Given the description of an element on the screen output the (x, y) to click on. 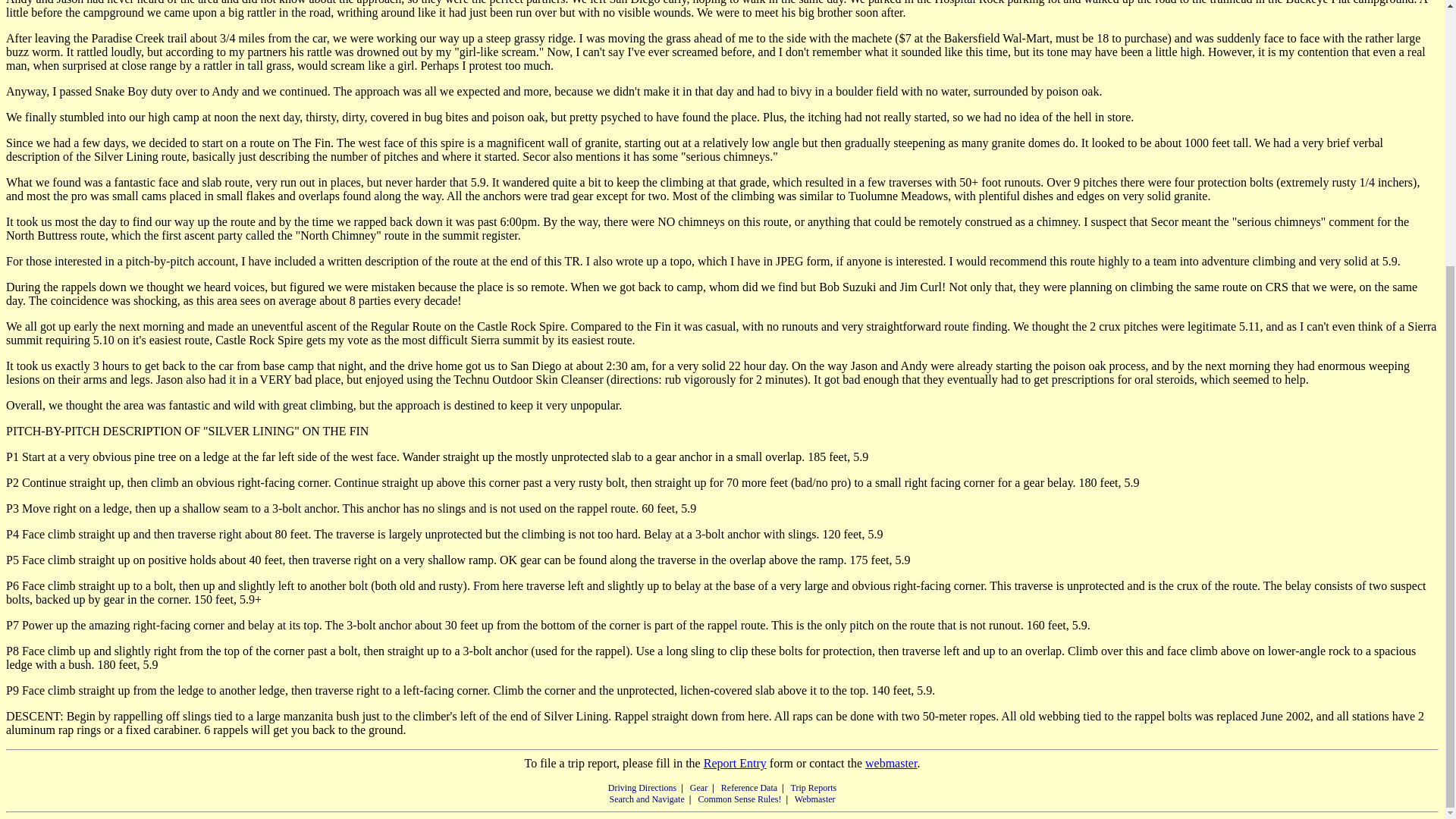
Driving Directions (642, 787)
Trip Reports (813, 787)
Webmaster (814, 798)
Search and Navigate (646, 798)
webmaster (890, 762)
Common Sense Rules! (738, 798)
Gear (698, 787)
Report Entry (735, 762)
Reference Data (748, 787)
